Given the description of an element on the screen output the (x, y) to click on. 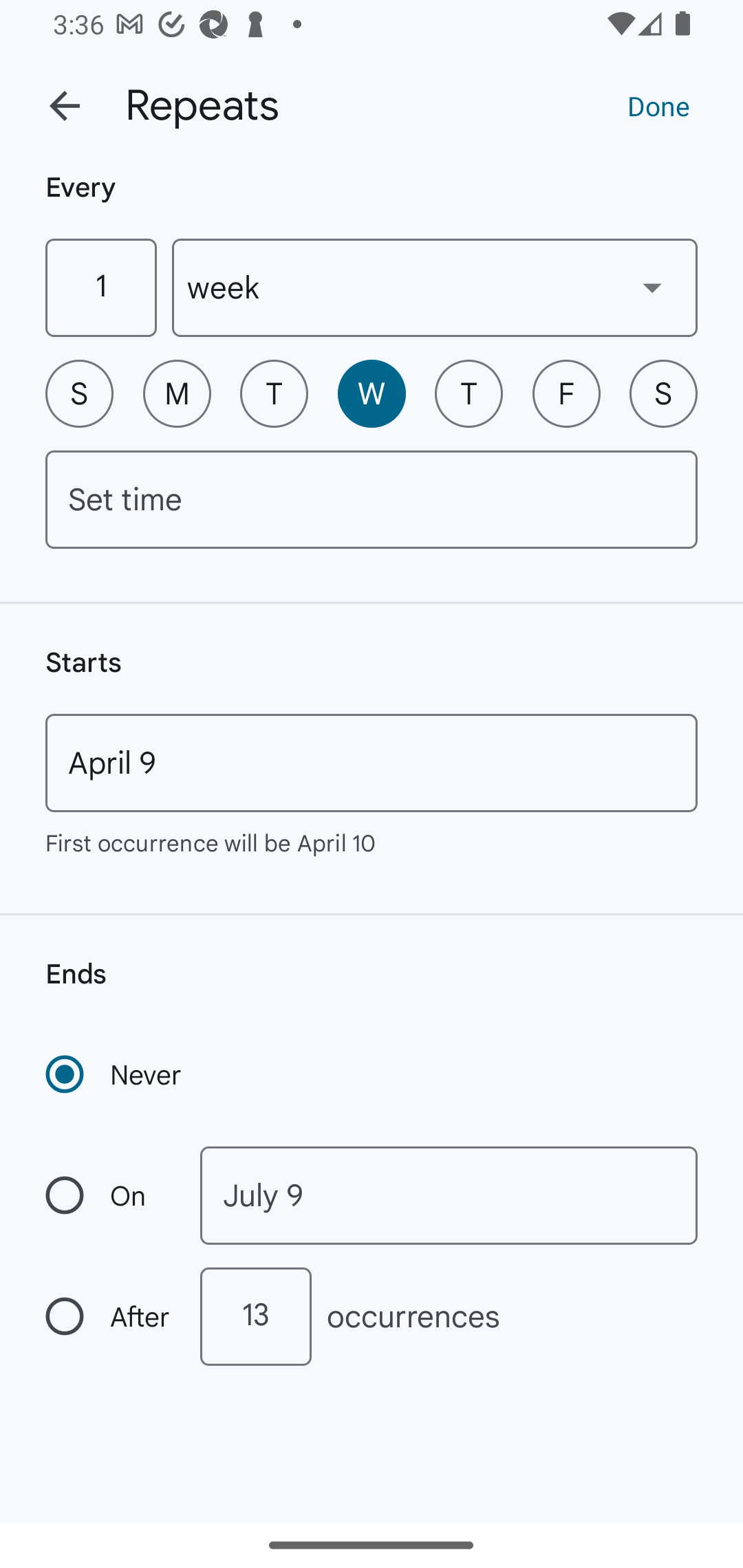
Back (64, 105)
Done (658, 105)
1 (100, 287)
week (434, 287)
Show dropdown menu (652, 286)
S Sunday (79, 393)
M Monday (177, 393)
T Tuesday (273, 393)
W Wednesday, selected (371, 393)
T Thursday (468, 393)
F Friday (566, 393)
S Saturday (663, 393)
Set time (371, 499)
April 9 (371, 762)
Never Recurrence never ends (115, 1074)
July 9 (448, 1195)
On Recurrence ends on a specific date (109, 1195)
13 (255, 1315)
